Given the description of an element on the screen output the (x, y) to click on. 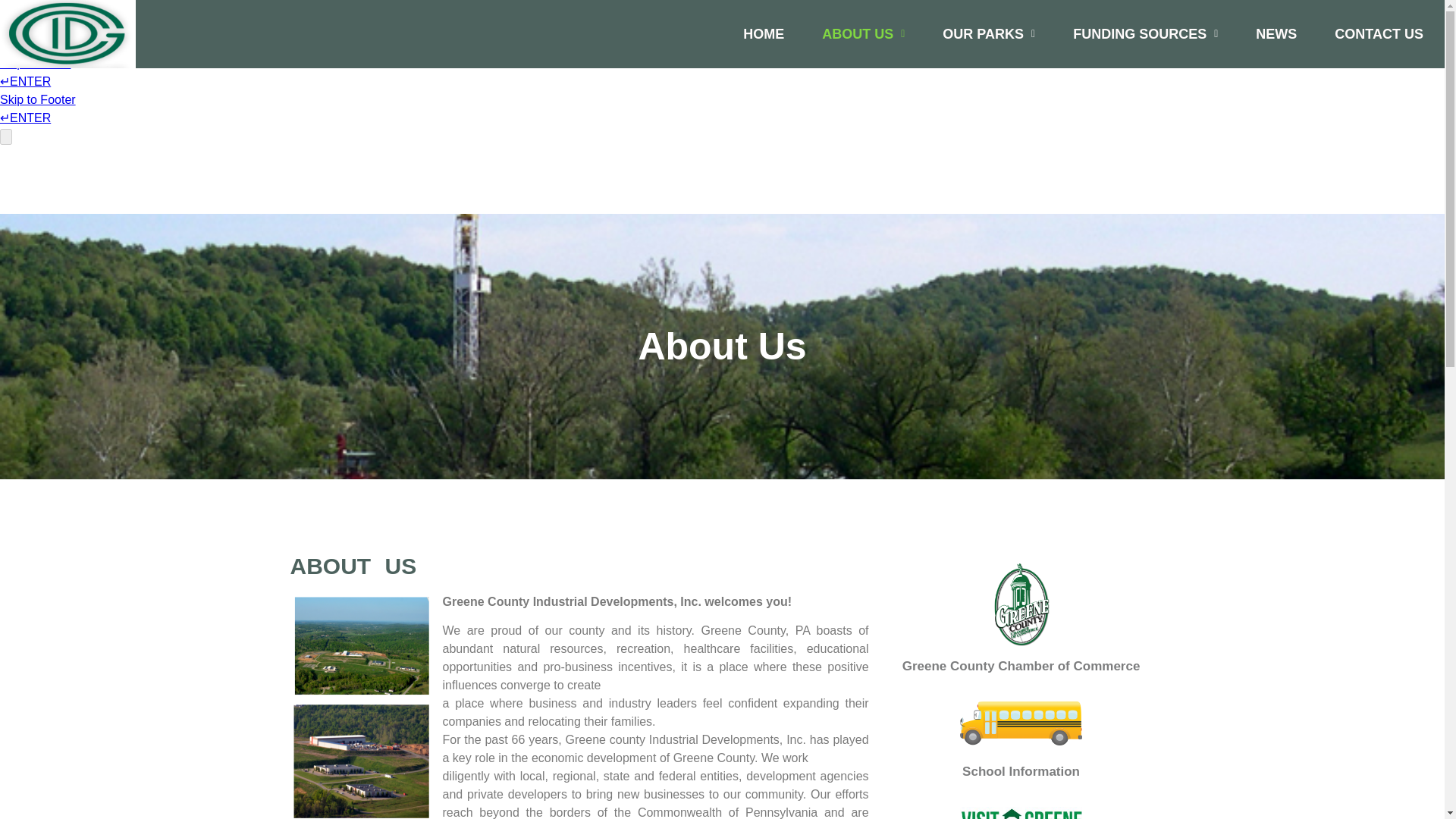
ABOUT US (863, 33)
Page 5 (577, 705)
NEWS (1276, 33)
OUR PARKS (988, 33)
CONTACT US (1379, 33)
HOME (763, 33)
FUNDING SOURCES (1145, 33)
